Given the description of an element on the screen output the (x, y) to click on. 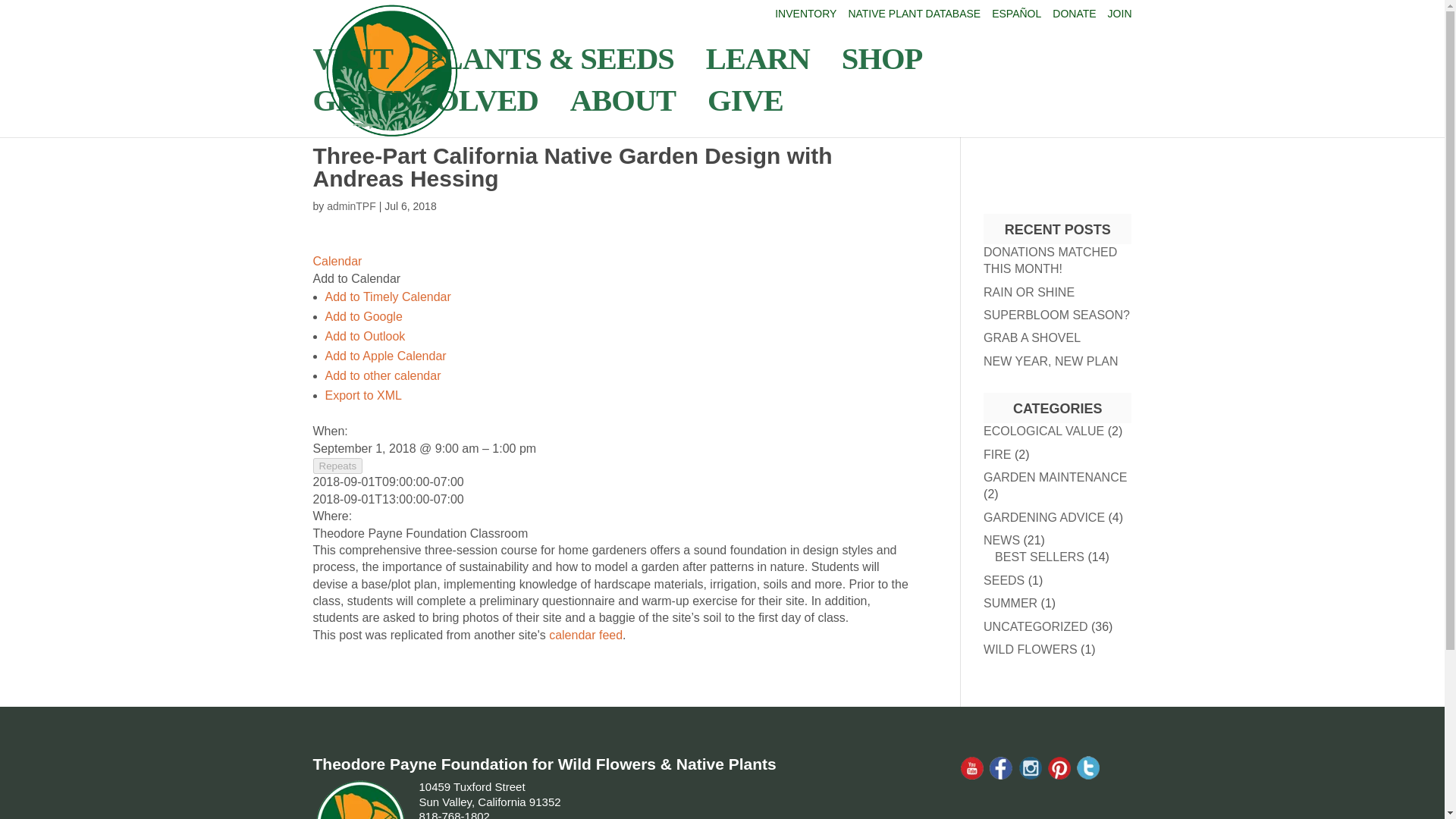
LEARN (765, 74)
SHOP (889, 74)
Every other week on Saturday for 3 occurrences (337, 465)
Subscribe to this calendar in MS Outlook (364, 336)
VISIT (360, 74)
INVENTORY (804, 16)
NATIVE PLANT DATABASE (913, 16)
DONATE (1074, 16)
View all events (337, 260)
Posts by adminTPF (350, 205)
Subscribe to this calendar in your Google Calendar (362, 316)
Subscribe to this calendar in another plain-text calendar (382, 375)
JOIN (1120, 16)
iCalendar feed (585, 634)
